Given the description of an element on the screen output the (x, y) to click on. 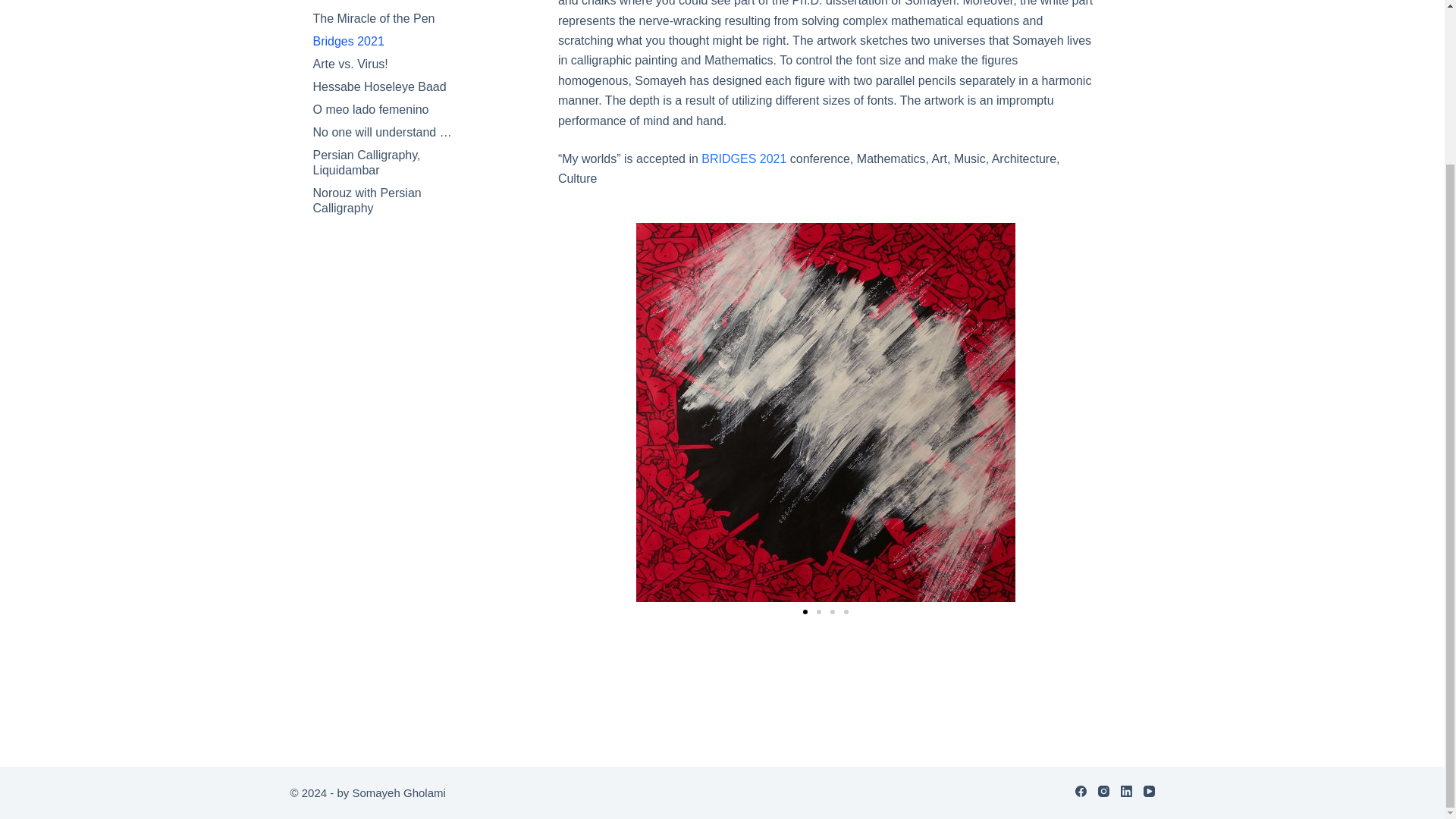
Arte vs. Virus! (393, 64)
The Miracle of the Pen (393, 18)
O meo lado femenino (393, 109)
Norouz with Persian Calligraphy (393, 200)
Persian Calligraphy, Liquidambar (393, 162)
Hessabe Hoseleye Baad (393, 87)
Bridges 2021 (393, 41)
